Given the description of an element on the screen output the (x, y) to click on. 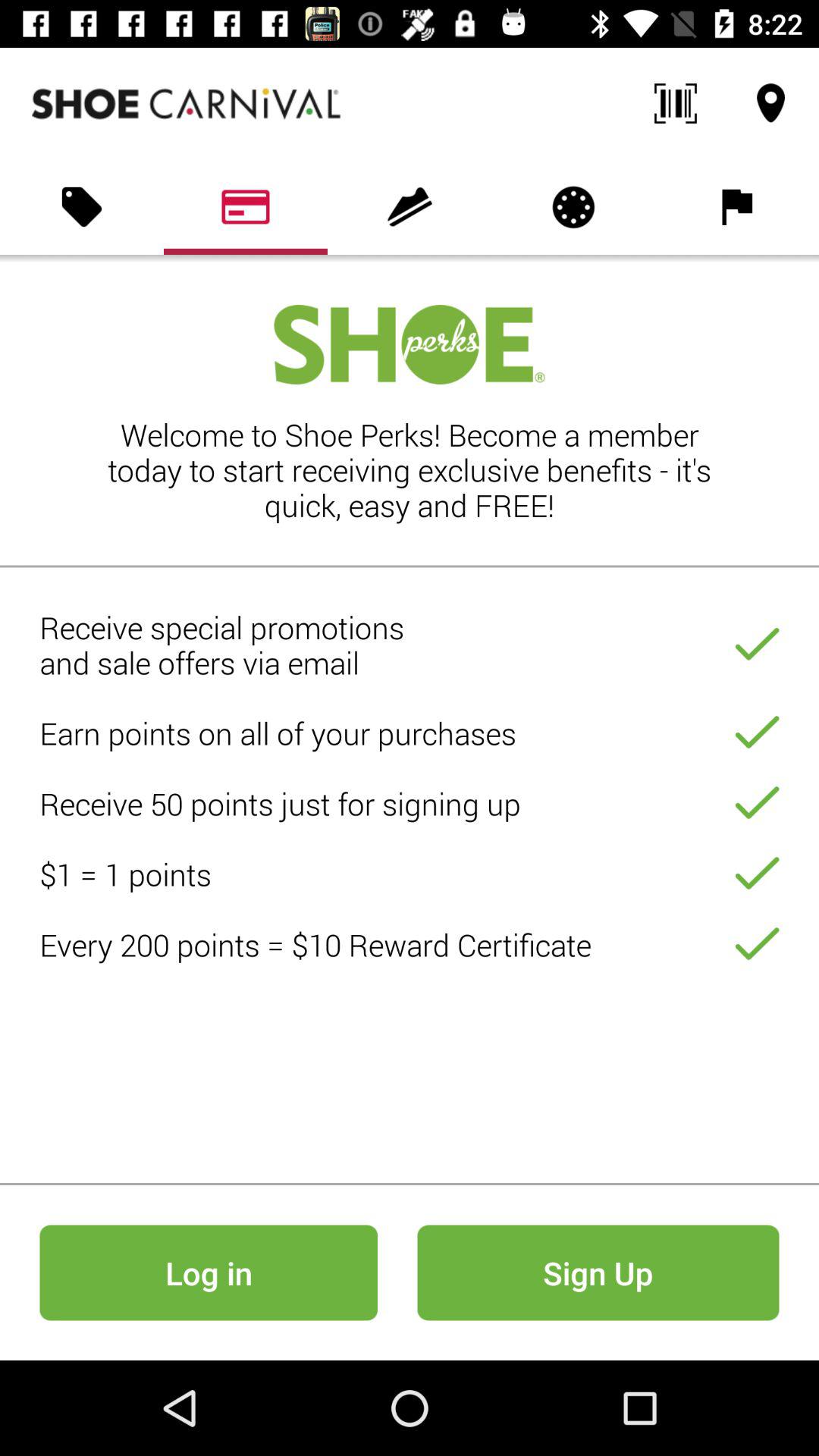
launch sign up (598, 1272)
